Given the description of an element on the screen output the (x, y) to click on. 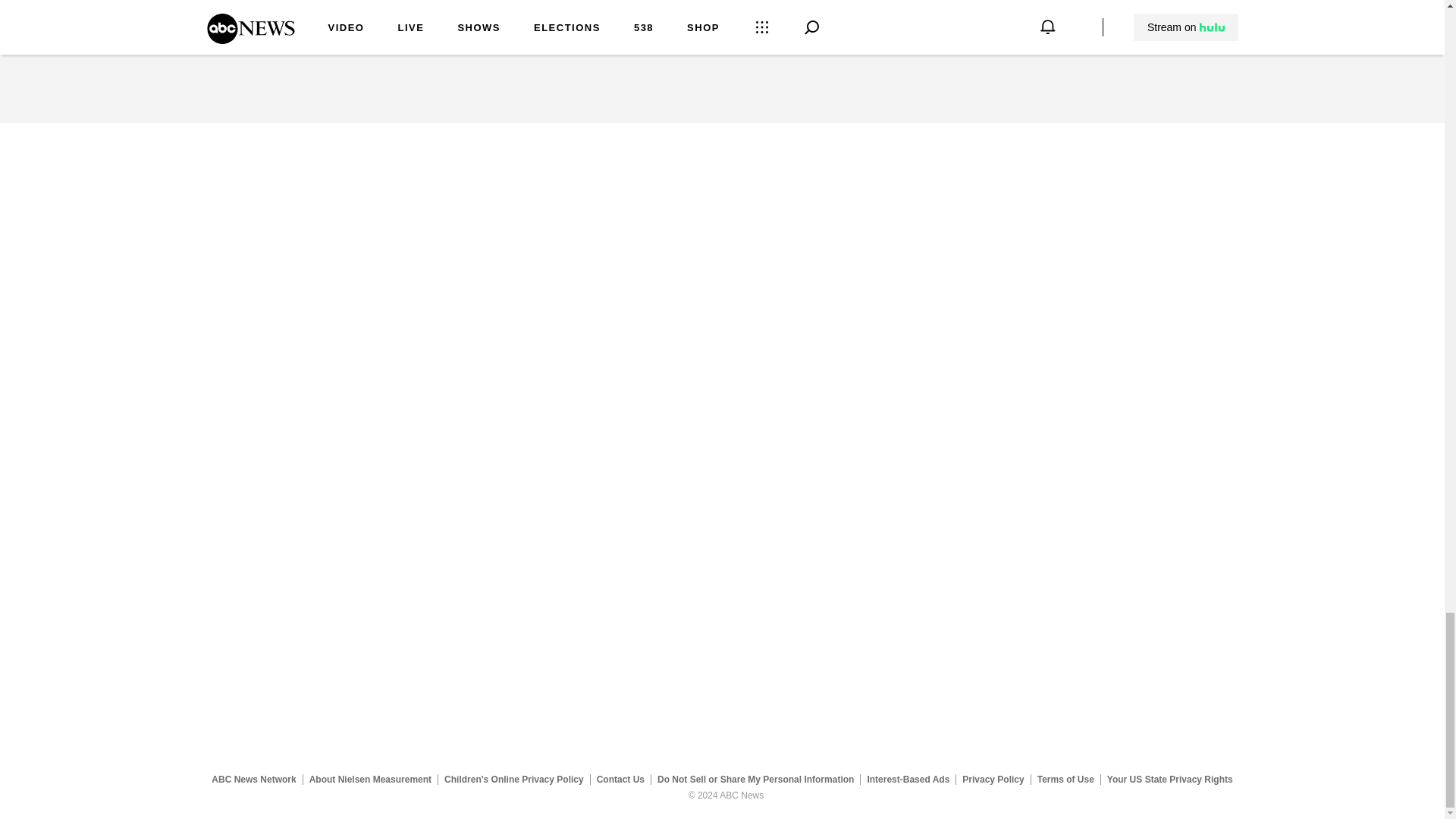
Children's Online Privacy Policy (514, 778)
Interest-Based Ads (908, 778)
Terms of Use (1065, 778)
Privacy Policy (993, 778)
Contact Us (620, 778)
About Nielsen Measurement (370, 778)
Your US State Privacy Rights (1169, 778)
Do Not Sell or Share My Personal Information (755, 778)
ABC News Network (253, 778)
